Given the description of an element on the screen output the (x, y) to click on. 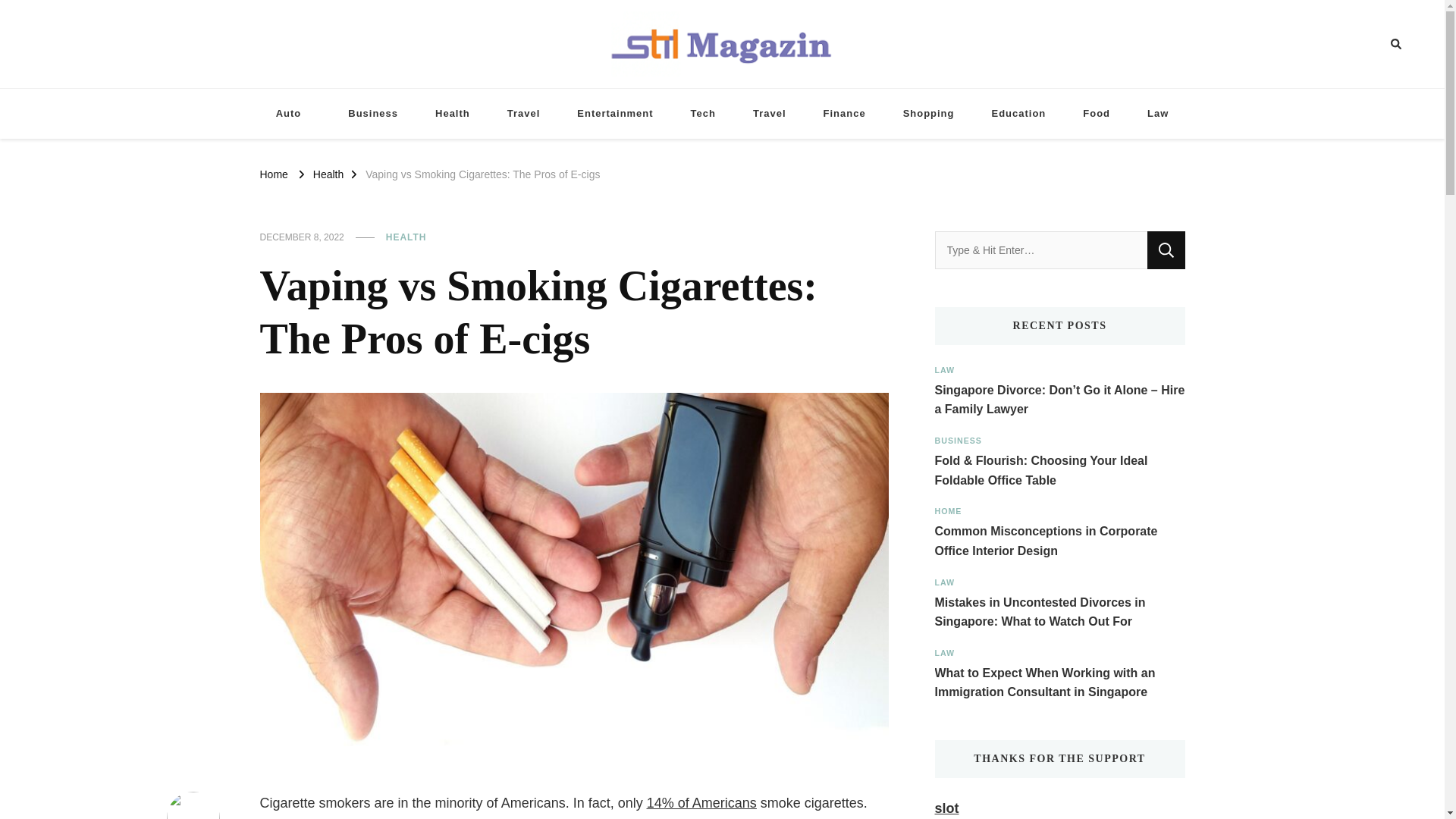
Search (1166, 249)
Entertainment (614, 113)
Shopping (928, 113)
Law (1158, 113)
Search (1368, 44)
Tech (703, 113)
Food (1095, 113)
HEALTH (405, 237)
DECEMBER 8, 2022 (301, 237)
Education (1018, 113)
